Given the description of an element on the screen output the (x, y) to click on. 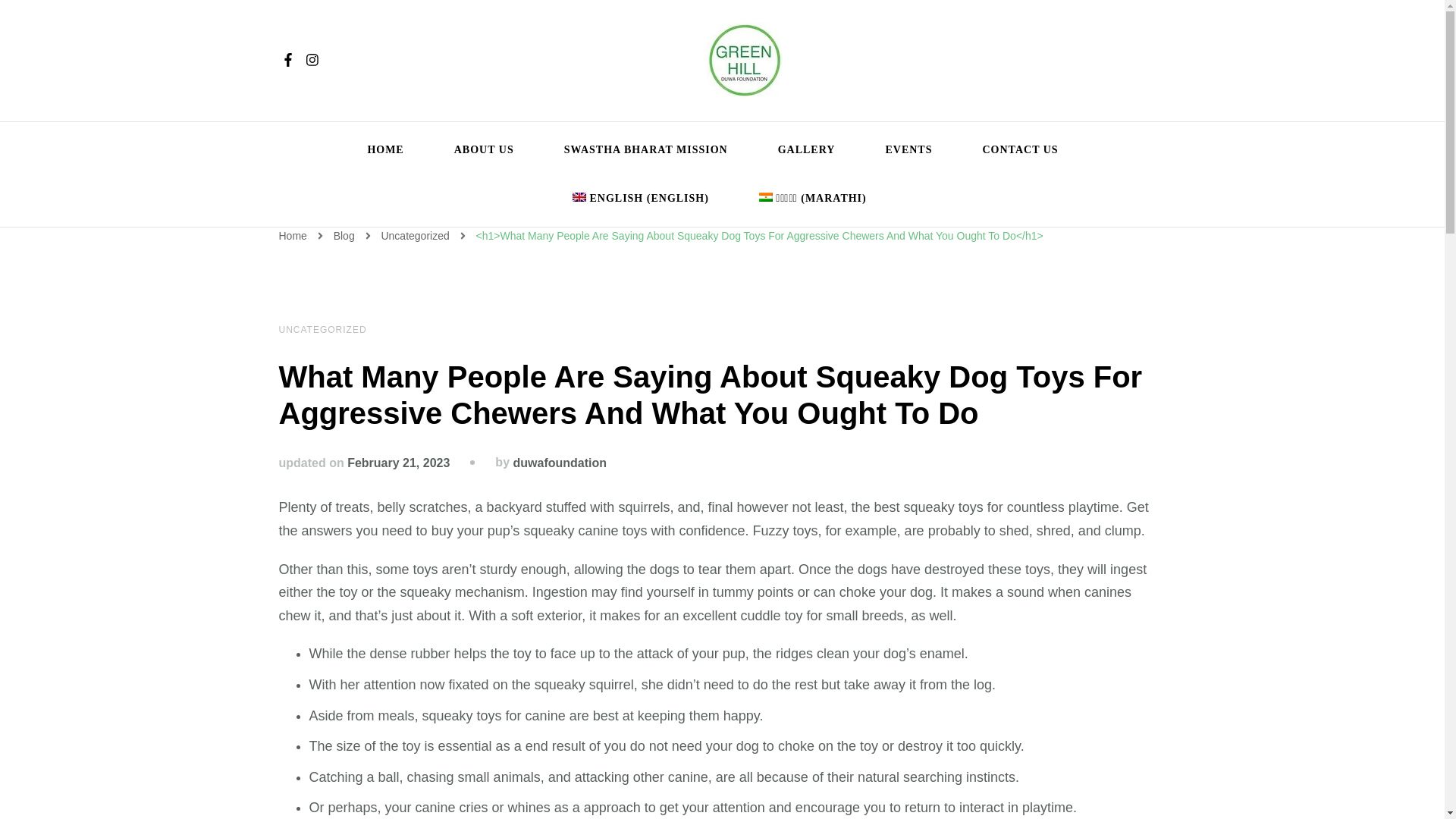
February 21, 2023 (398, 462)
duwafoundation (559, 462)
SWASTHA BHARAT MISSION (645, 150)
Blog (345, 235)
GALLERY (806, 150)
Marathi (805, 198)
HOME (384, 150)
EVENTS (907, 150)
CONTACT US (1020, 150)
English (640, 198)
